Given the description of an element on the screen output the (x, y) to click on. 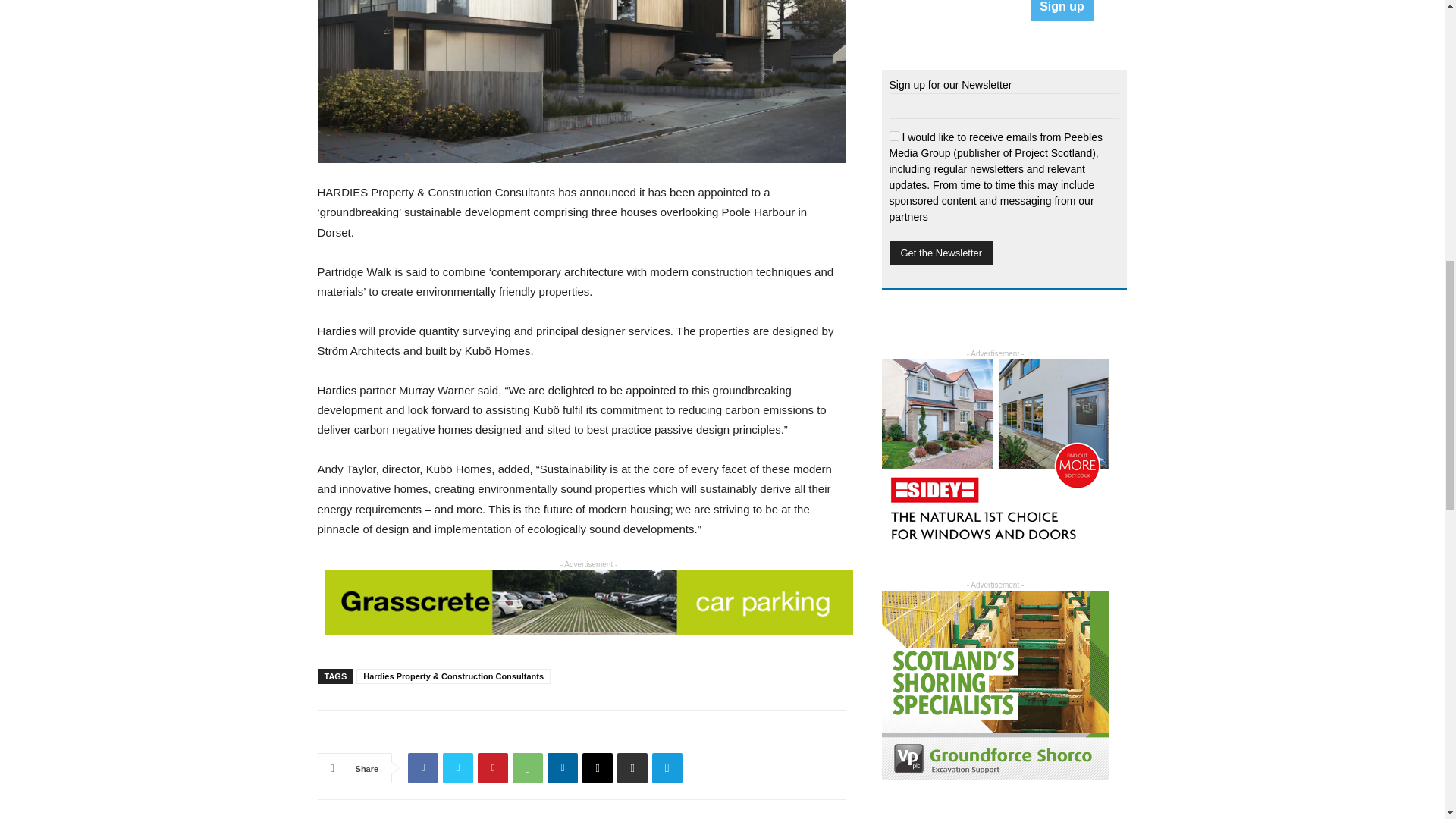
on (893, 135)
Twitter (457, 767)
Pinterest (492, 767)
Get the Newsletter (940, 252)
Facebook (422, 767)
